Given the description of an element on the screen output the (x, y) to click on. 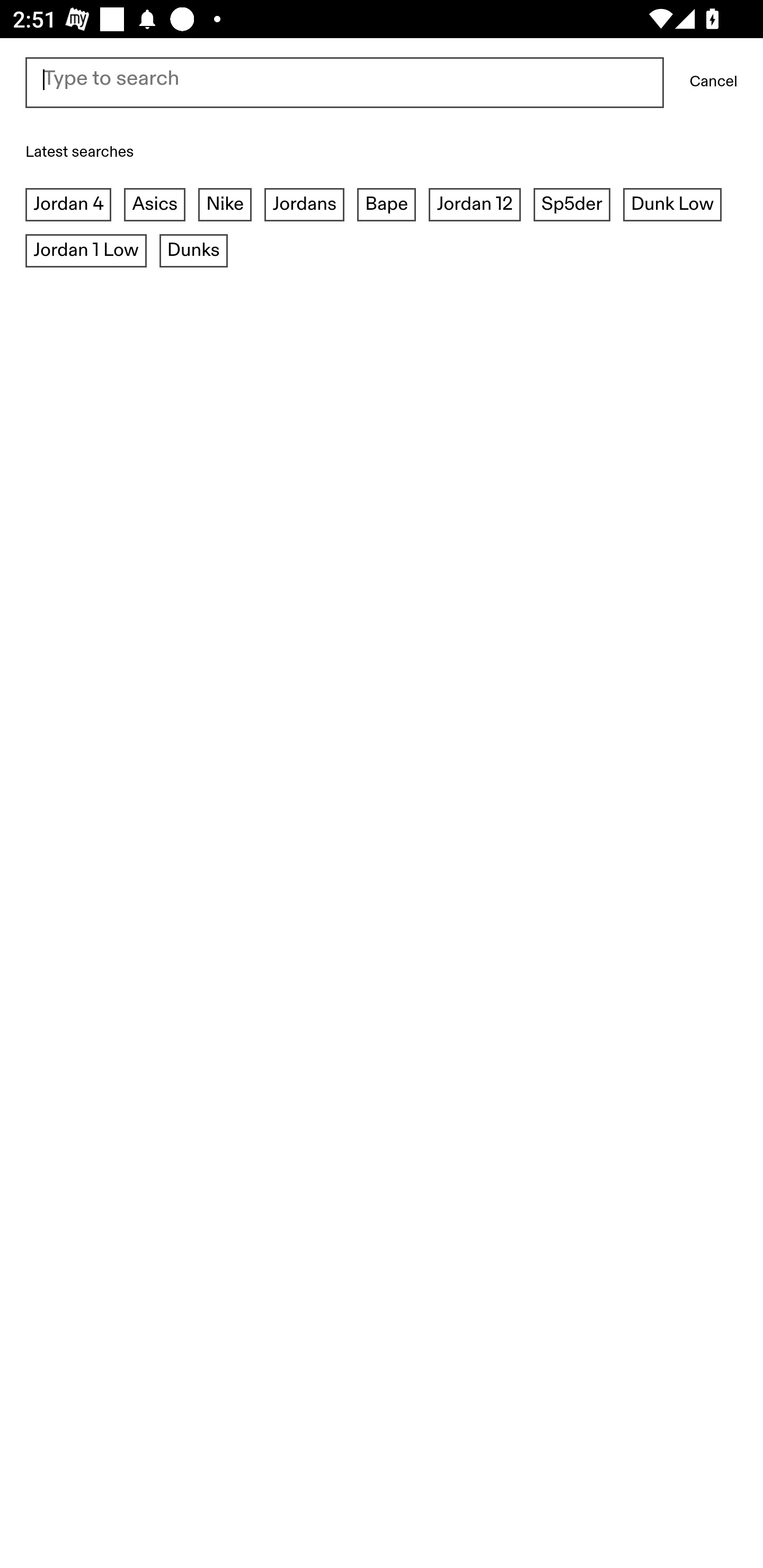
Cancel (713, 82)
Jordan 4 (68, 205)
Asics (154, 205)
Nike (224, 205)
Jordans (303, 205)
Bape (386, 205)
Jordan 12 (474, 205)
Sp5der (571, 205)
Dunk Low (672, 205)
Jordan 1 Low (86, 250)
Dunks (193, 250)
